Given the description of an element on the screen output the (x, y) to click on. 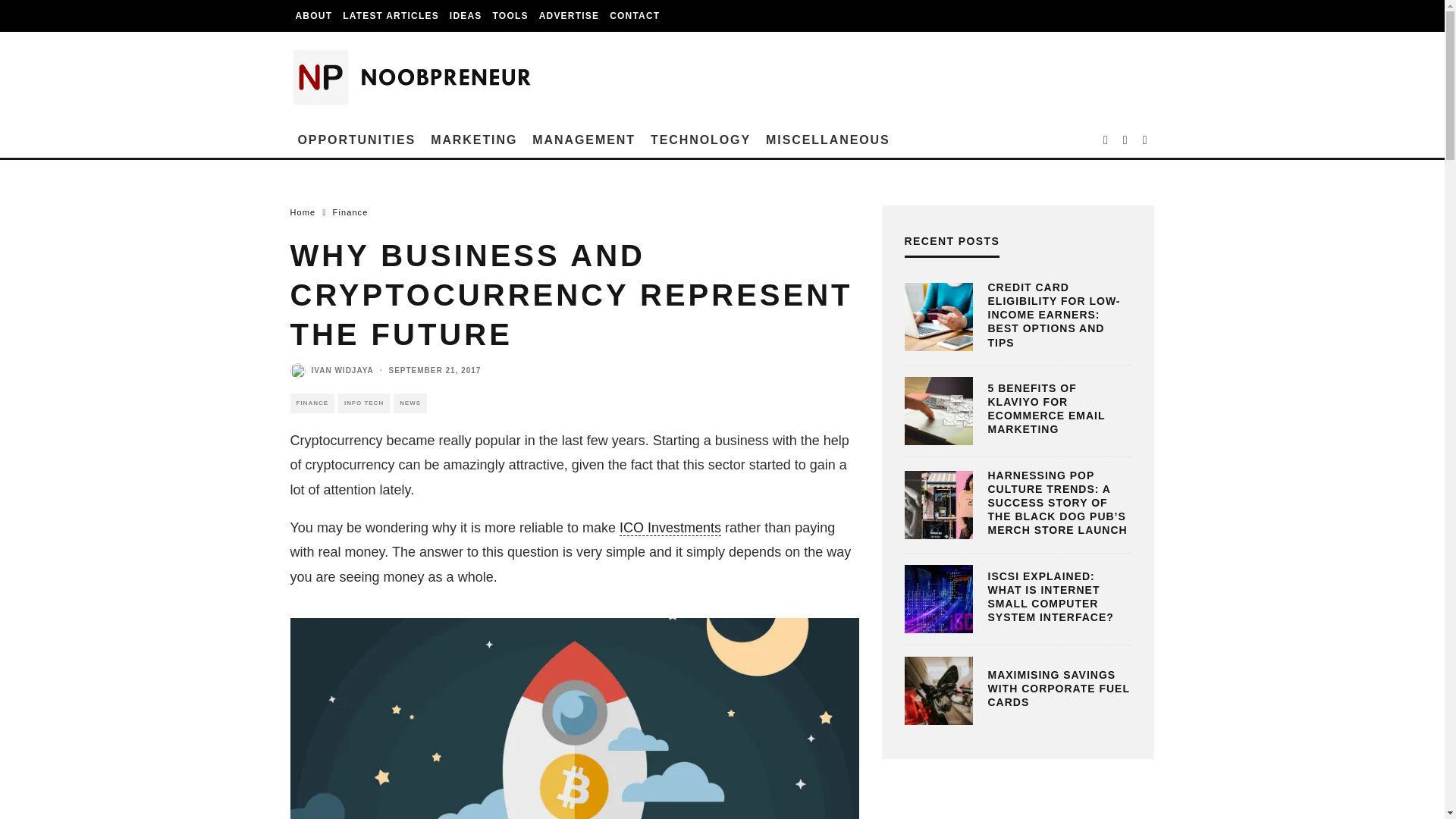
OPPORTUNITIES (356, 140)
Business Marketing (473, 140)
ABOUT (313, 15)
LATEST ARTICLES (390, 15)
MARKETING (473, 140)
Other Business News and Tips (828, 140)
Business Management (583, 140)
Small Business Apps (510, 15)
IDEAS (465, 15)
CONTACT (634, 15)
TOOLS (510, 15)
MANAGEMENT (583, 140)
Small Business Ideas (465, 15)
Business Opportunities (356, 140)
ADVERTISE (569, 15)
